Given the description of an element on the screen output the (x, y) to click on. 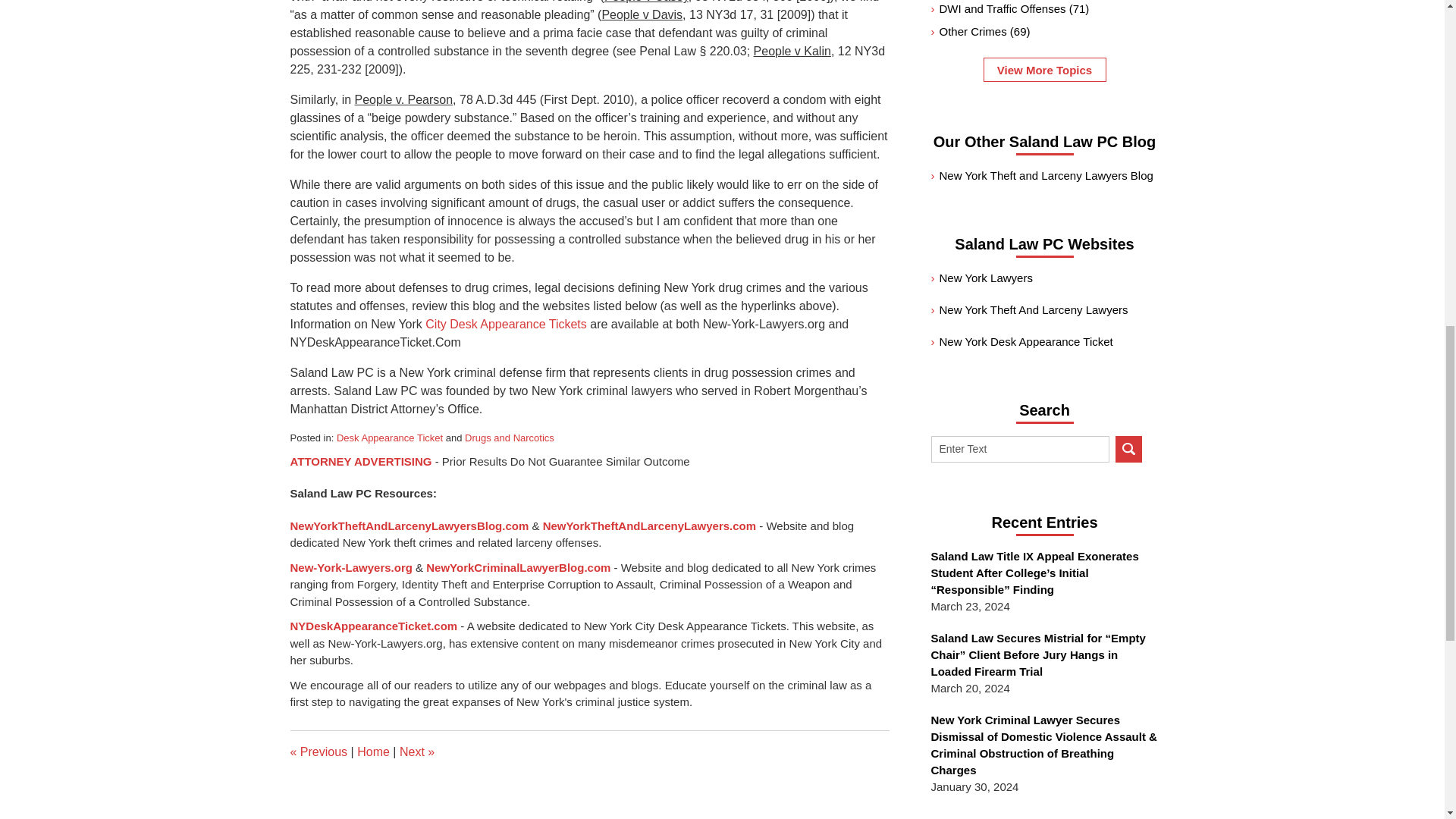
View all posts in Desk Appearance Ticket (389, 437)
New-York-Lawyers.org (350, 567)
NewYorkTheftAndLarcenyLawyers.com (649, 525)
Home (373, 751)
City Desk Appearance Tickets (504, 323)
NYDeskAppearanceTicket.com (373, 625)
NewYorkCriminalLawyerBlog.com (518, 567)
ATTORNEY ADVERTISING (359, 461)
View all posts in Drugs and Narcotics (509, 437)
Drugs and Narcotics (509, 437)
Desk Appearance Ticket (389, 437)
NewYorkTheftAndLarcenyLawyersBlog.com (408, 525)
